Given the description of an element on the screen output the (x, y) to click on. 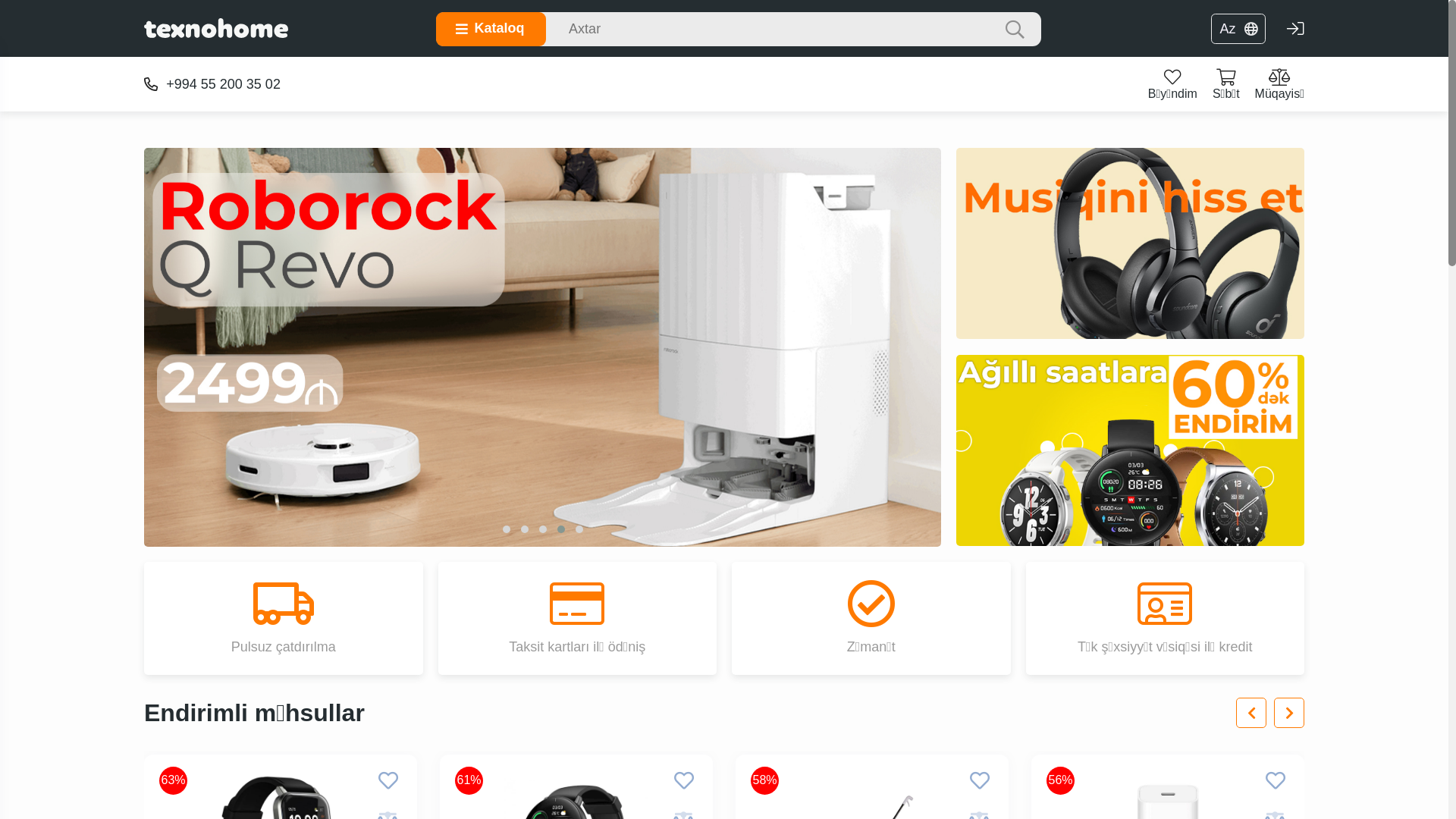
Az Element type: text (1238, 28)
Kataloq Element type: text (491, 29)
